Given the description of an element on the screen output the (x, y) to click on. 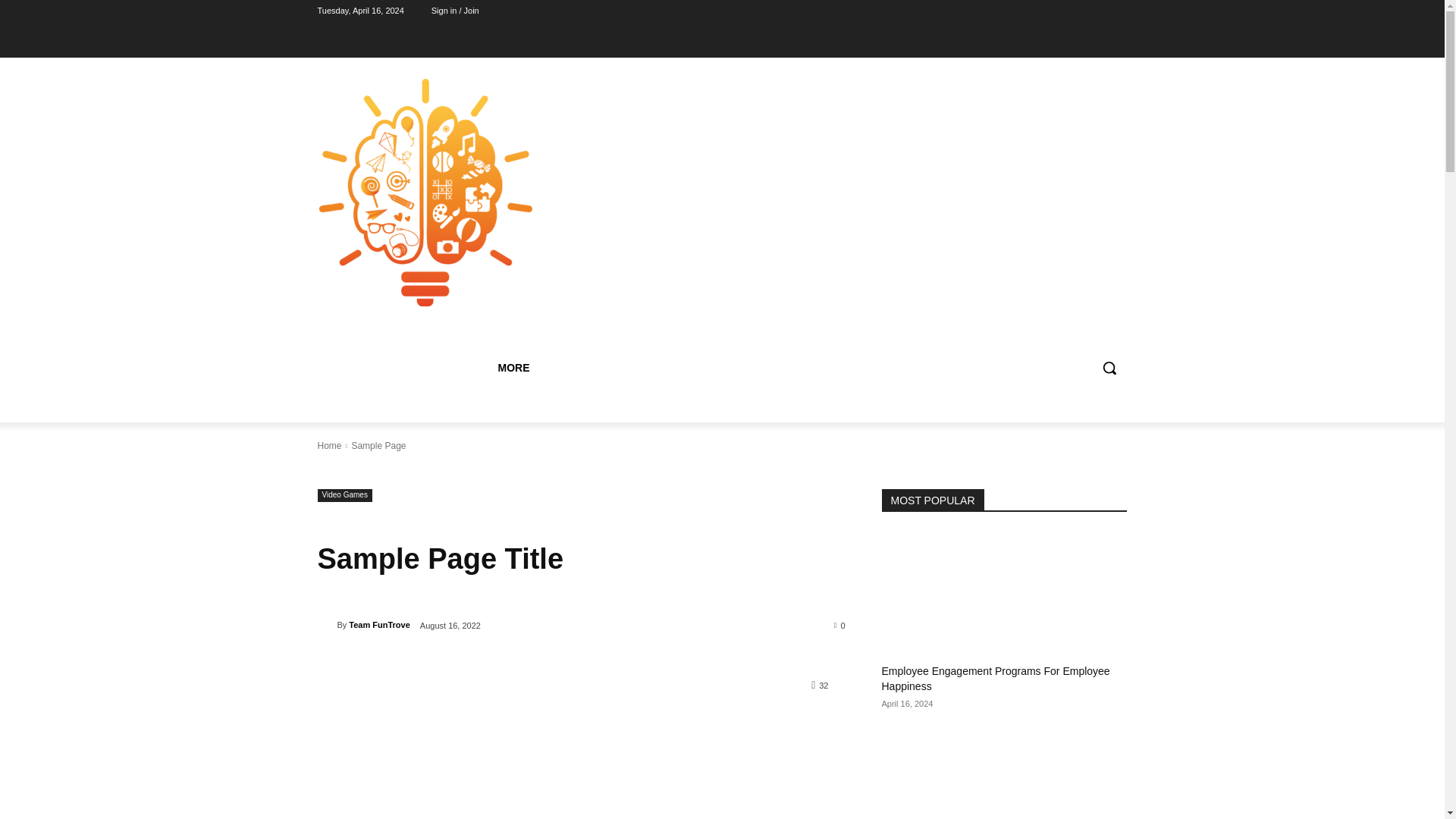
MORE (513, 367)
Team FunTrove (326, 624)
Home (328, 445)
Video Games (344, 495)
